Given the description of an element on the screen output the (x, y) to click on. 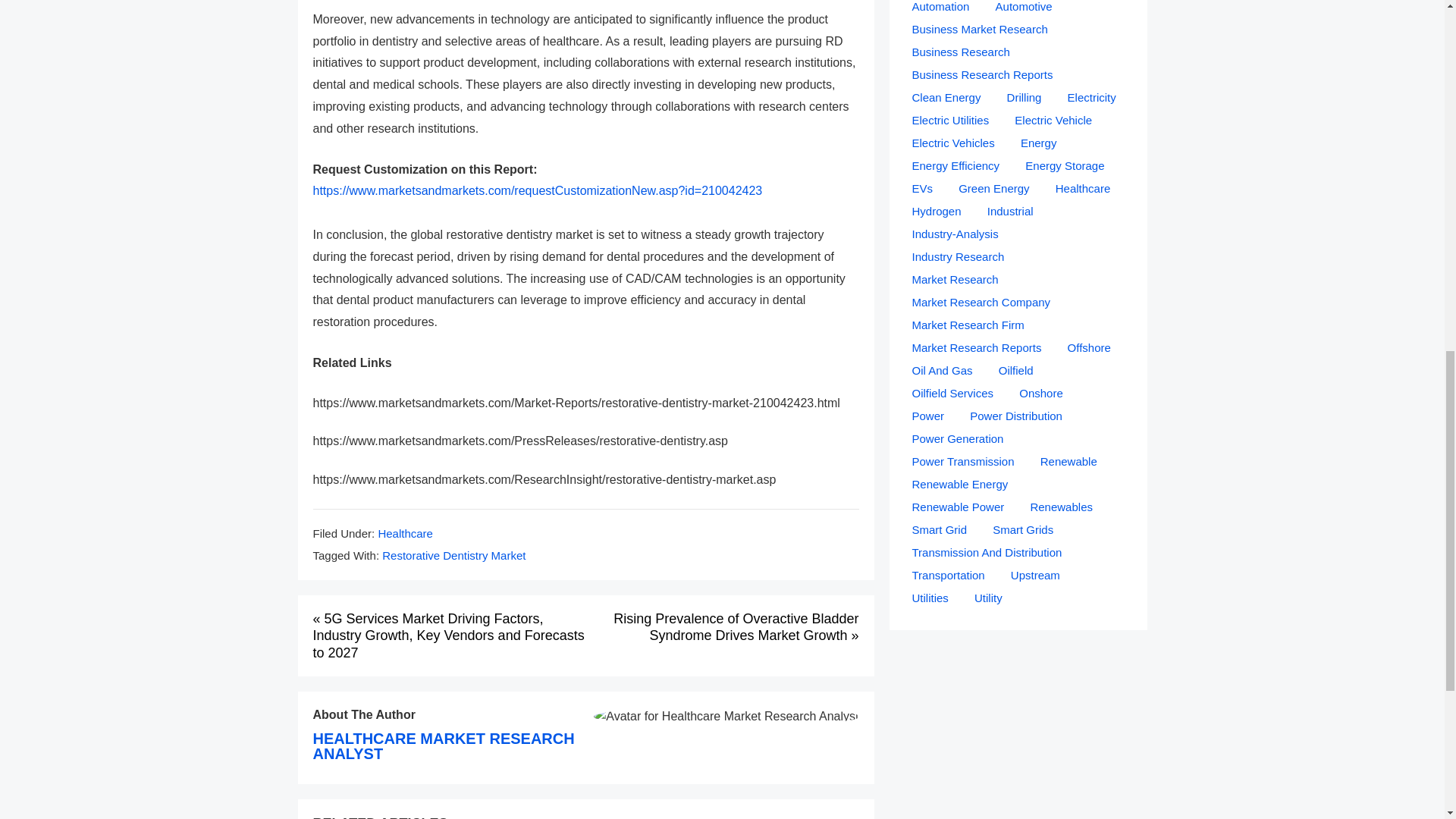
Gravatar for Healthcare Market Research Analyst (726, 716)
